Given the description of an element on the screen output the (x, y) to click on. 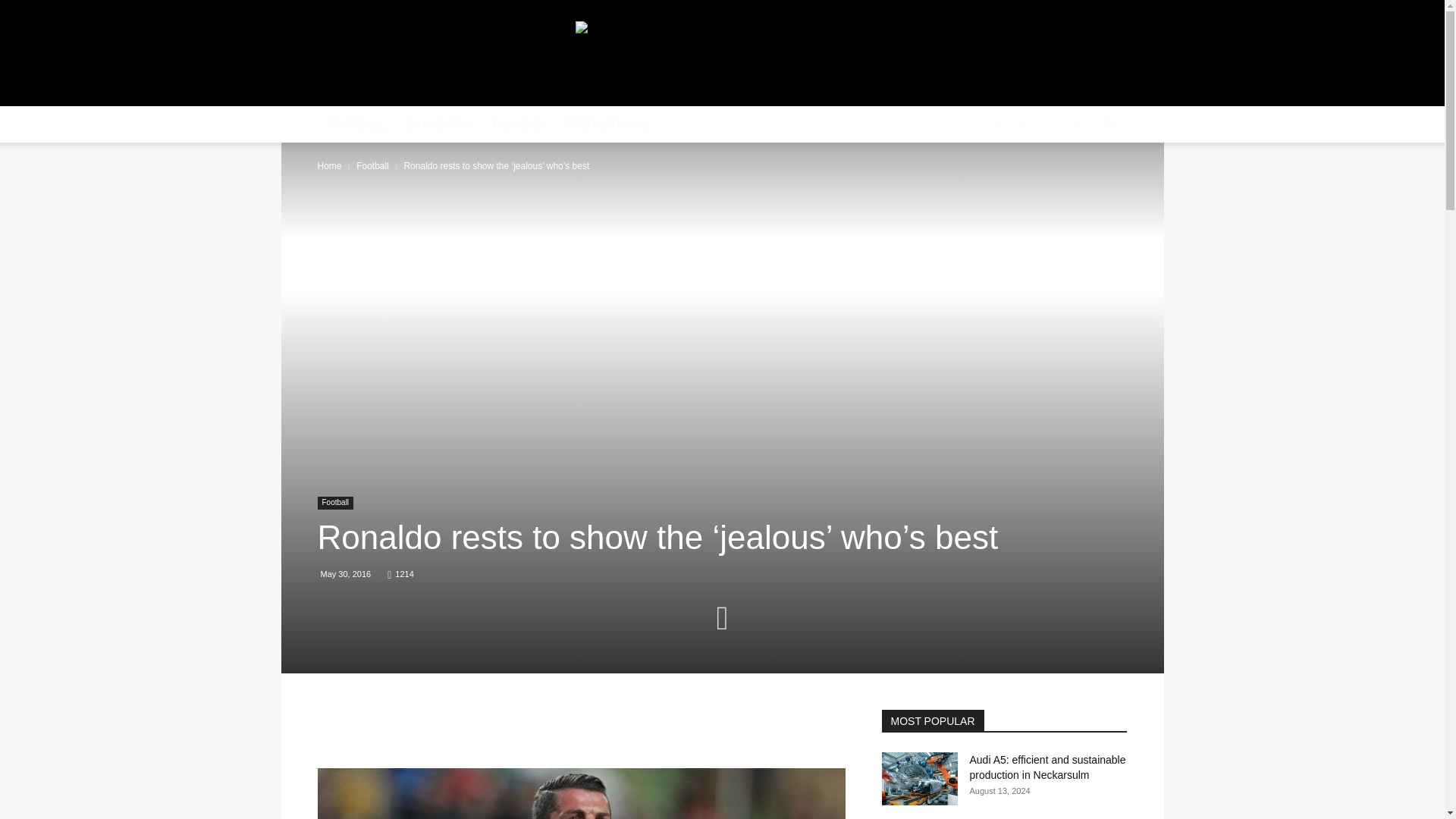
BADMINTON (438, 124)
FOOTBALL (356, 124)
Sports247.my (445, 55)
